Given the description of an element on the screen output the (x, y) to click on. 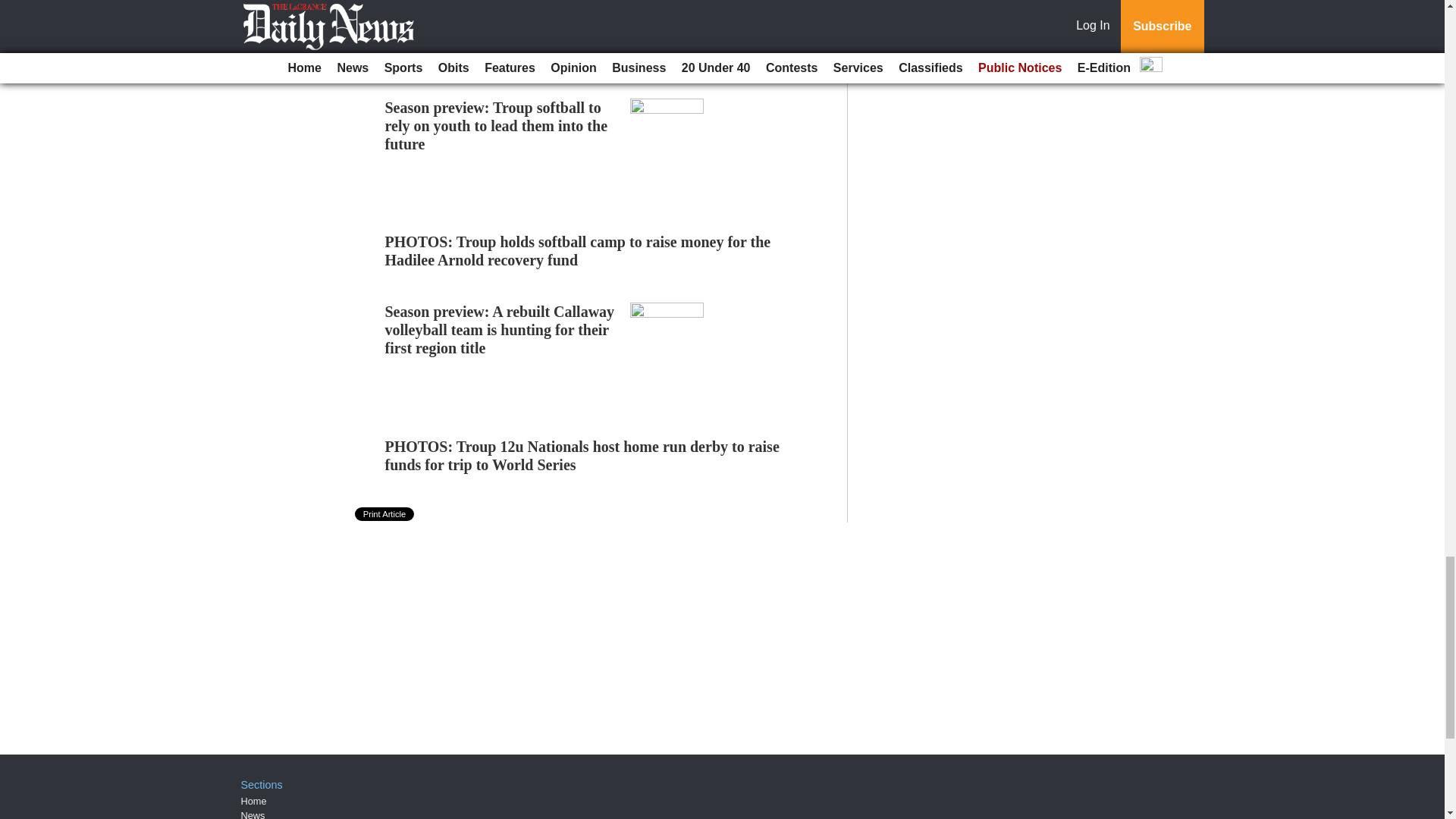
Print Article (384, 513)
News (252, 814)
Home (253, 800)
